Given the description of an element on the screen output the (x, y) to click on. 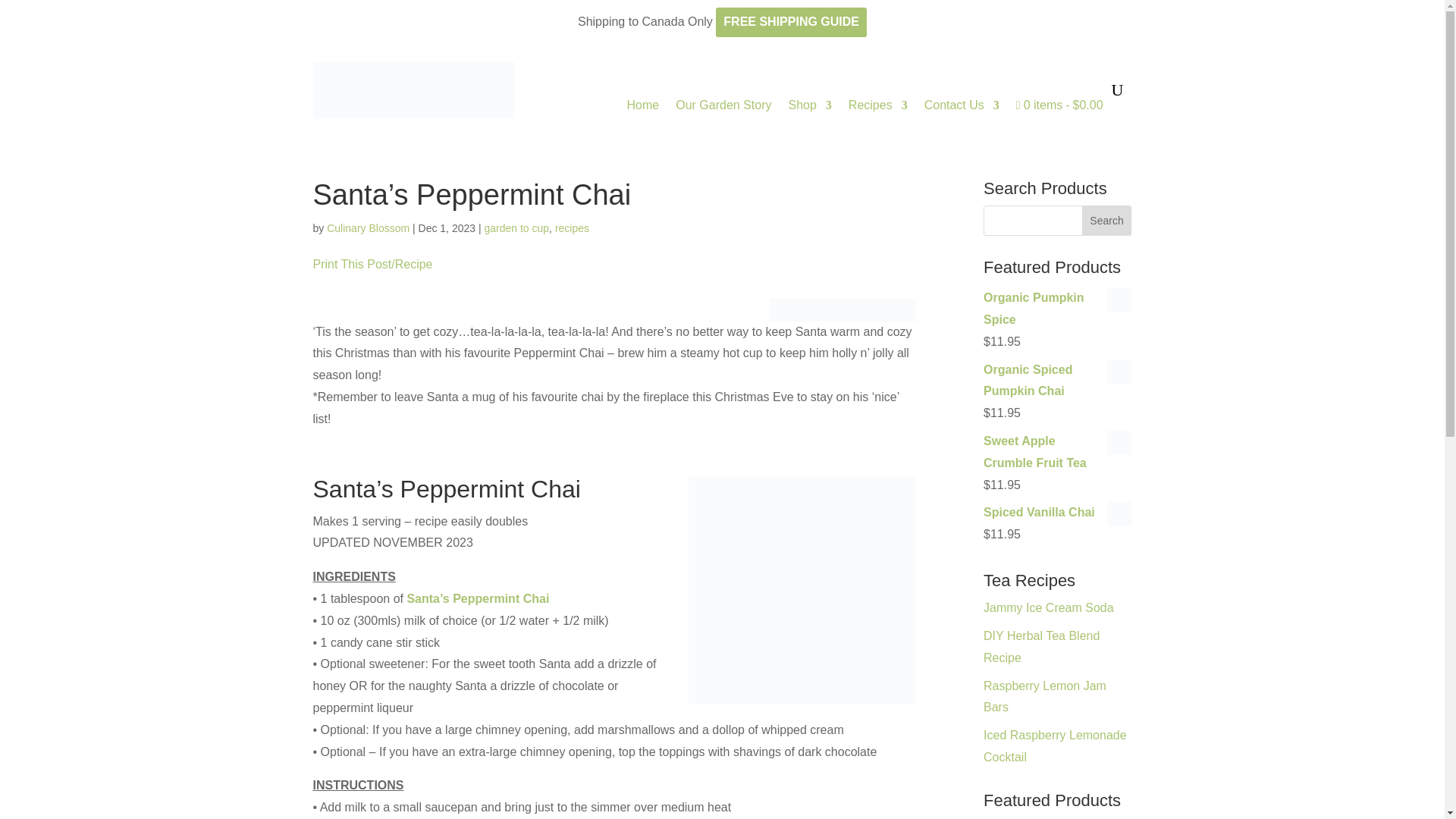
Sweet Apple Crumble Fruit Tea (1057, 452)
Our Garden Story (723, 105)
Organic Pumpkin Spice (1057, 309)
Culinary Blossom (367, 227)
Search (1106, 220)
Search (1106, 220)
Contact Us (961, 105)
Recipes (877, 105)
Organic Spiced Pumpkin Chai (1057, 381)
garden to cup (515, 227)
